Given the description of an element on the screen output the (x, y) to click on. 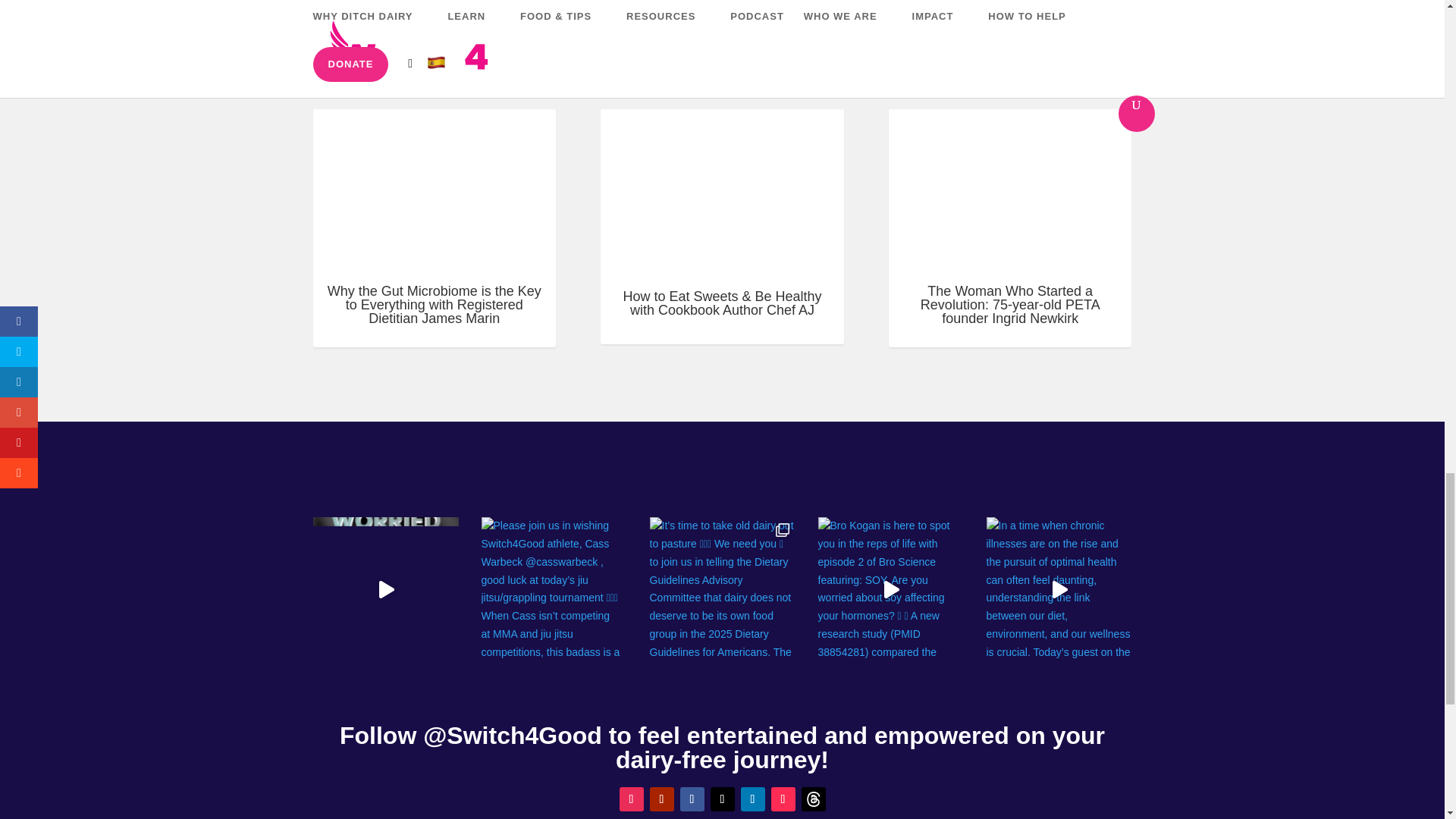
Follow on Instagram (630, 799)
Follow on Youtube (660, 799)
Follow on Facebook (691, 799)
